Given the description of an element on the screen output the (x, y) to click on. 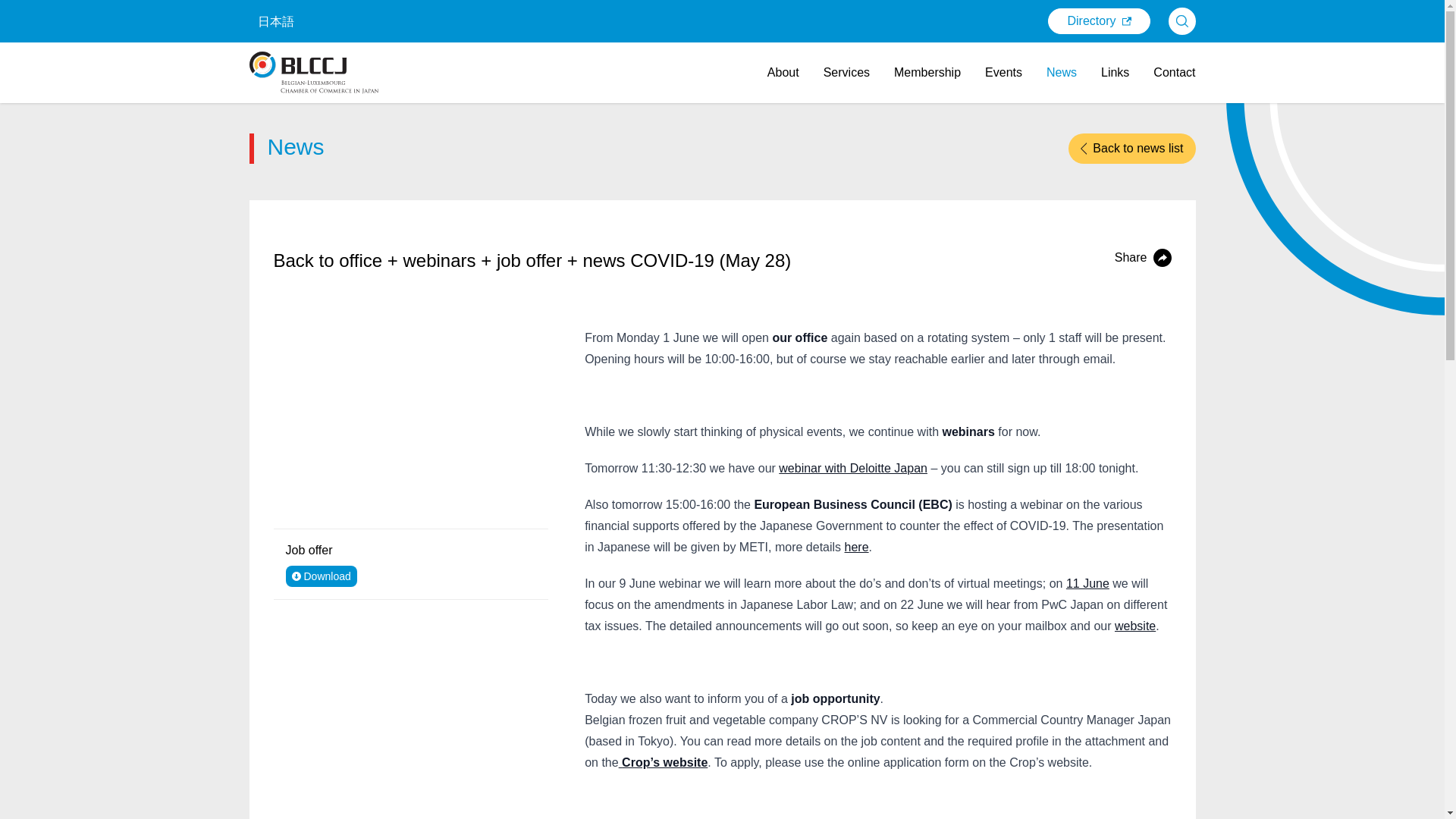
here (856, 546)
11 June (1087, 583)
Download (320, 576)
Contact (1174, 72)
About (782, 72)
News (1061, 72)
Events (1002, 72)
webinar with Deloitte Japan (852, 468)
website (1135, 625)
Directory (1099, 21)
Membership (927, 72)
Services (846, 72)
Links (1115, 72)
Back to news list (1131, 148)
